Given the description of an element on the screen output the (x, y) to click on. 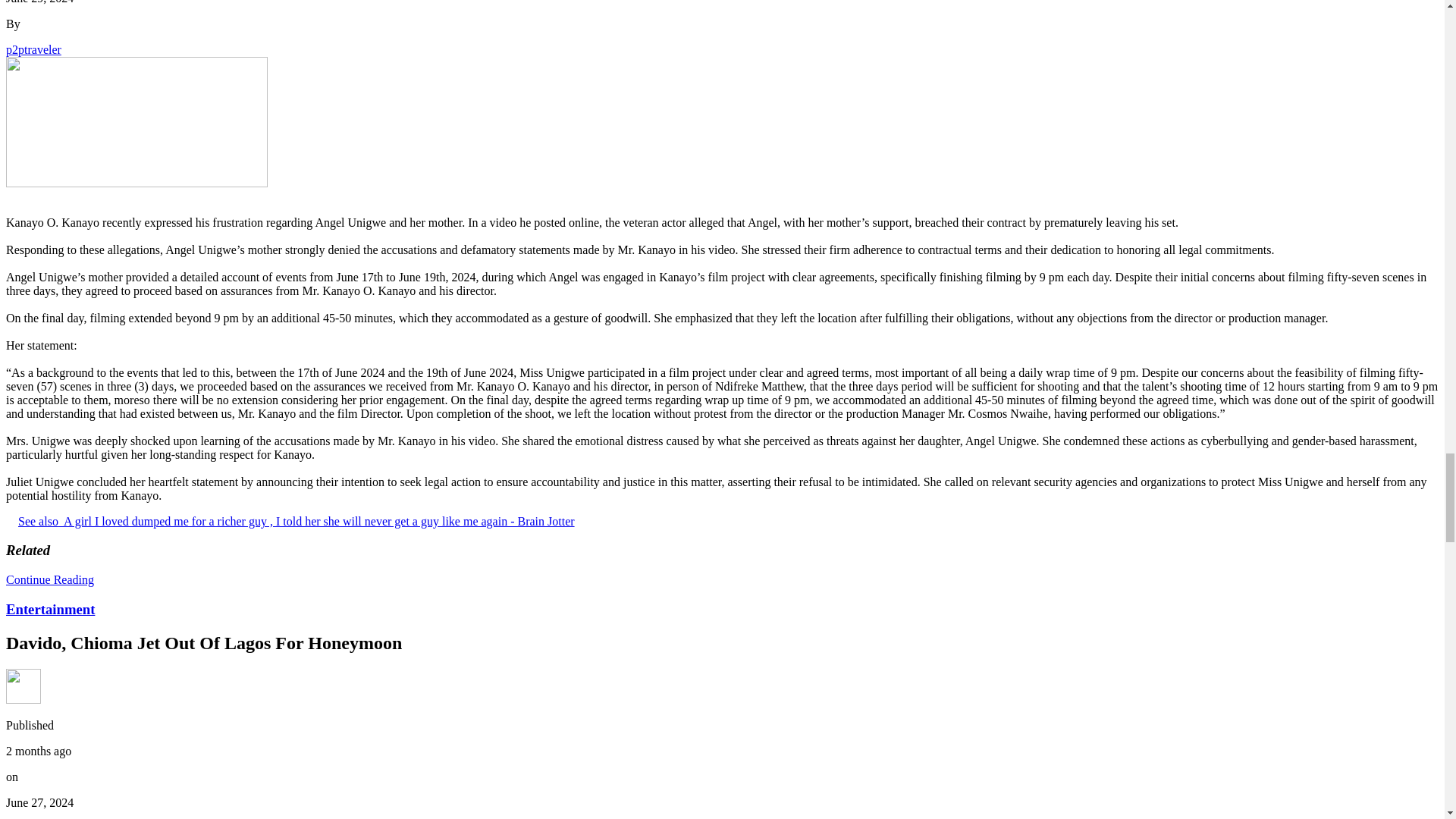
Posts by p2ptraveler (33, 49)
Continue Reading (49, 579)
Entertainment (49, 609)
p2ptraveler (33, 49)
